Given the description of an element on the screen output the (x, y) to click on. 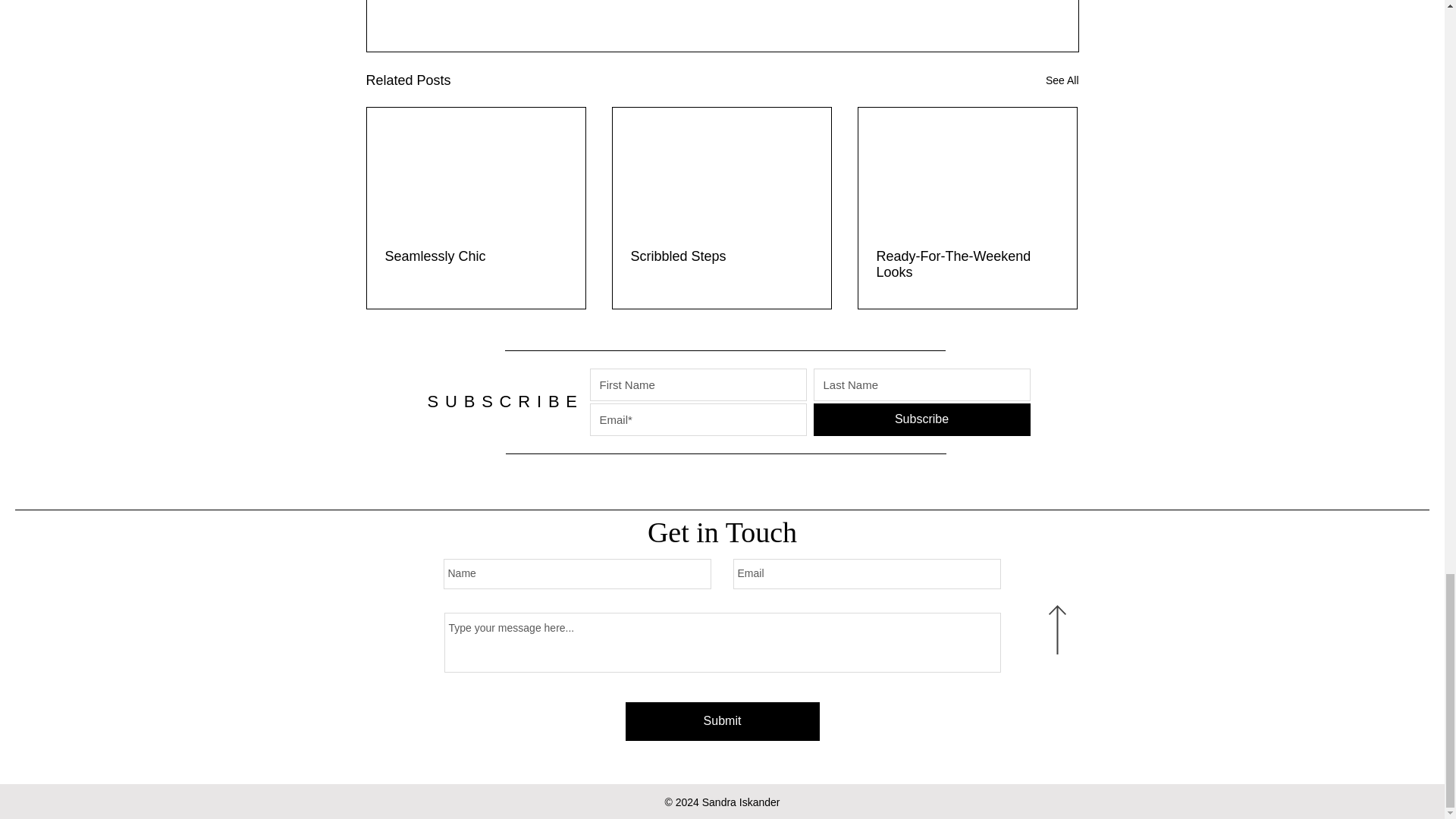
Ready-For-The-Weekend Looks (967, 264)
Scribbled Steps (721, 256)
Subscribe (920, 419)
See All (1061, 80)
Submit (721, 721)
Seamlessly Chic (476, 256)
